Given the description of an element on the screen output the (x, y) to click on. 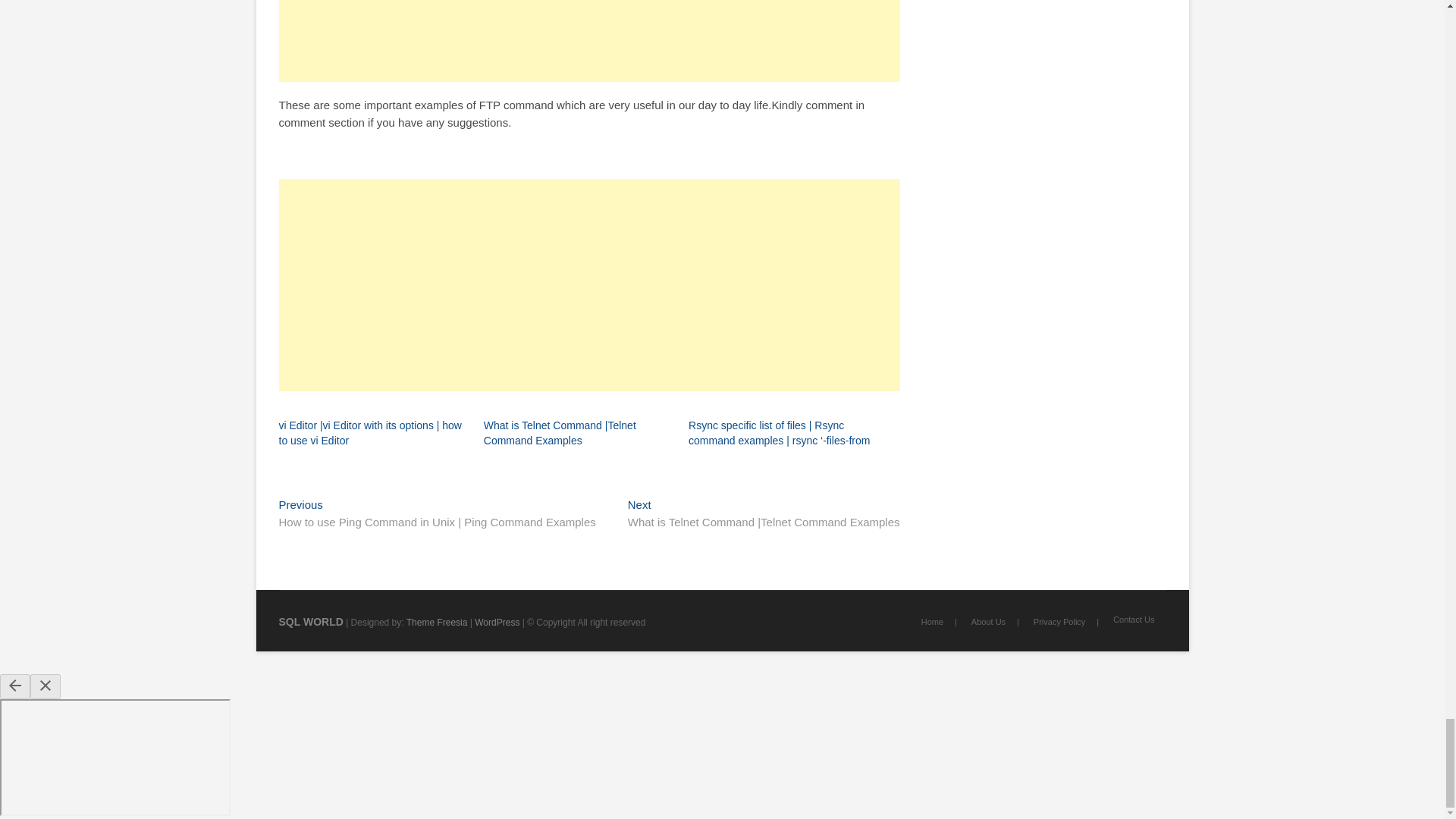
WordPress (496, 622)
SQL WORLD (311, 621)
Theme Freesia (436, 622)
